Given the description of an element on the screen output the (x, y) to click on. 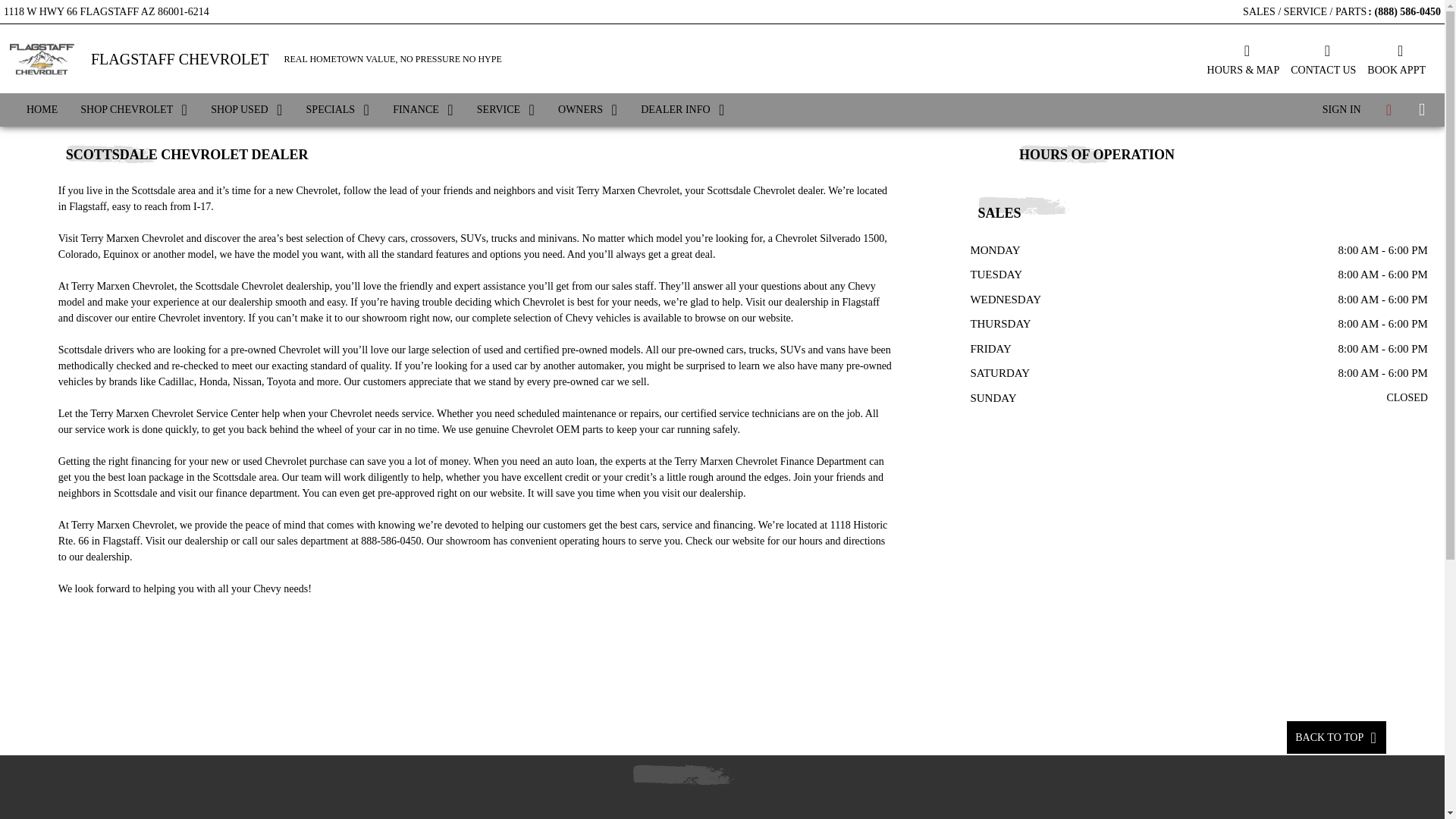
1118 W HWY 66 FLAGSTAFF AZ 86001-6214 (106, 9)
BOOK APPT (1396, 58)
CONTACT US (1322, 58)
Skip to Main Content (45, 7)
Flagstaff Chevrolet (41, 58)
FLAGSTAFF CHEVROLET (179, 58)
Back to Top (1336, 737)
REAL HOMETOWN VALUE, NO PRESSURE NO HYPE (392, 58)
HOME (41, 109)
